Given the description of an element on the screen output the (x, y) to click on. 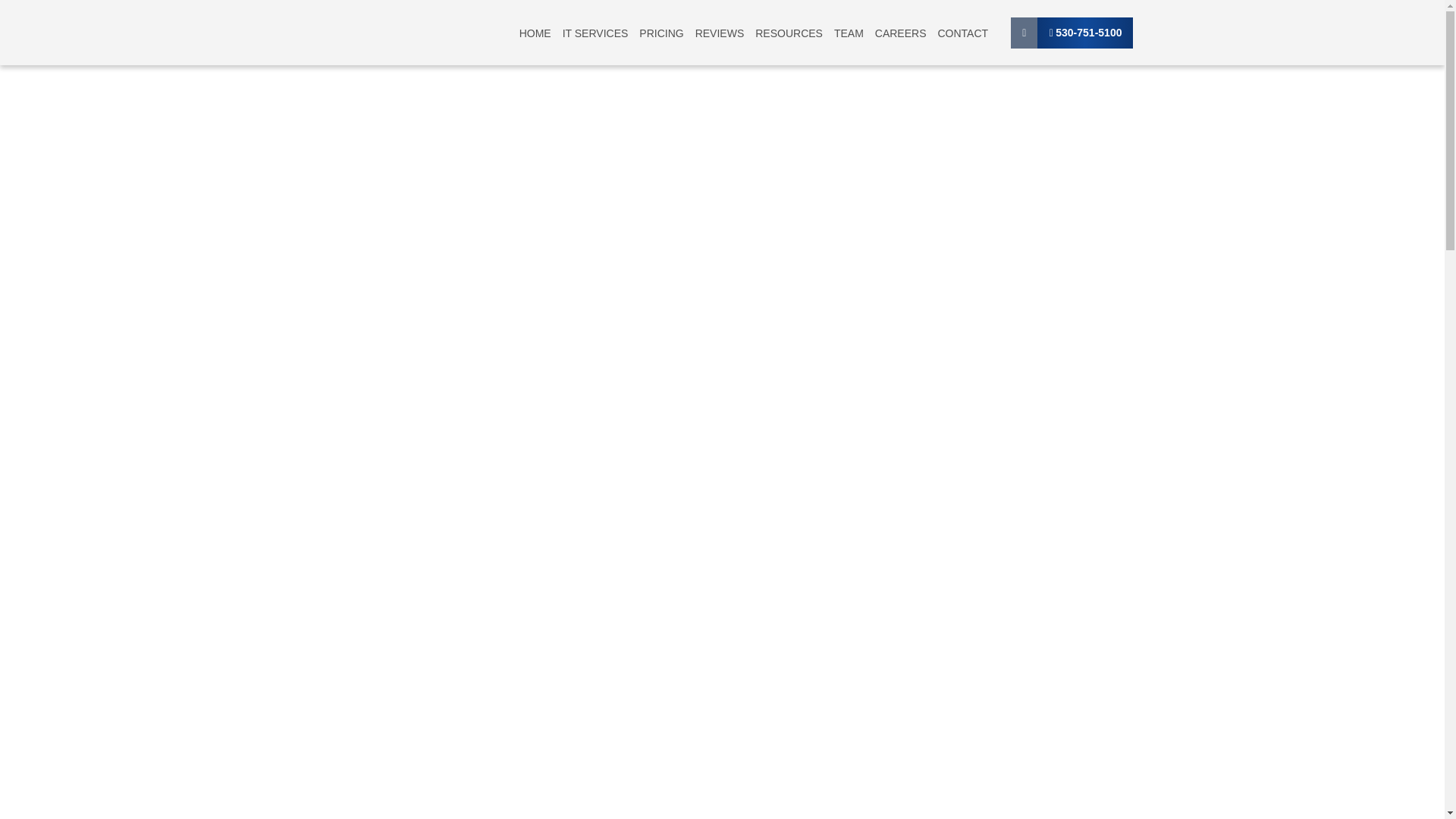
CONTACT (962, 33)
HOME (535, 33)
IT SERVICES (595, 33)
RESOURCES (788, 33)
530-751-5100 (1084, 31)
REVIEWS (719, 33)
TEAM (848, 33)
PRICING (660, 33)
CAREERS (900, 33)
